Given the description of an element on the screen output the (x, y) to click on. 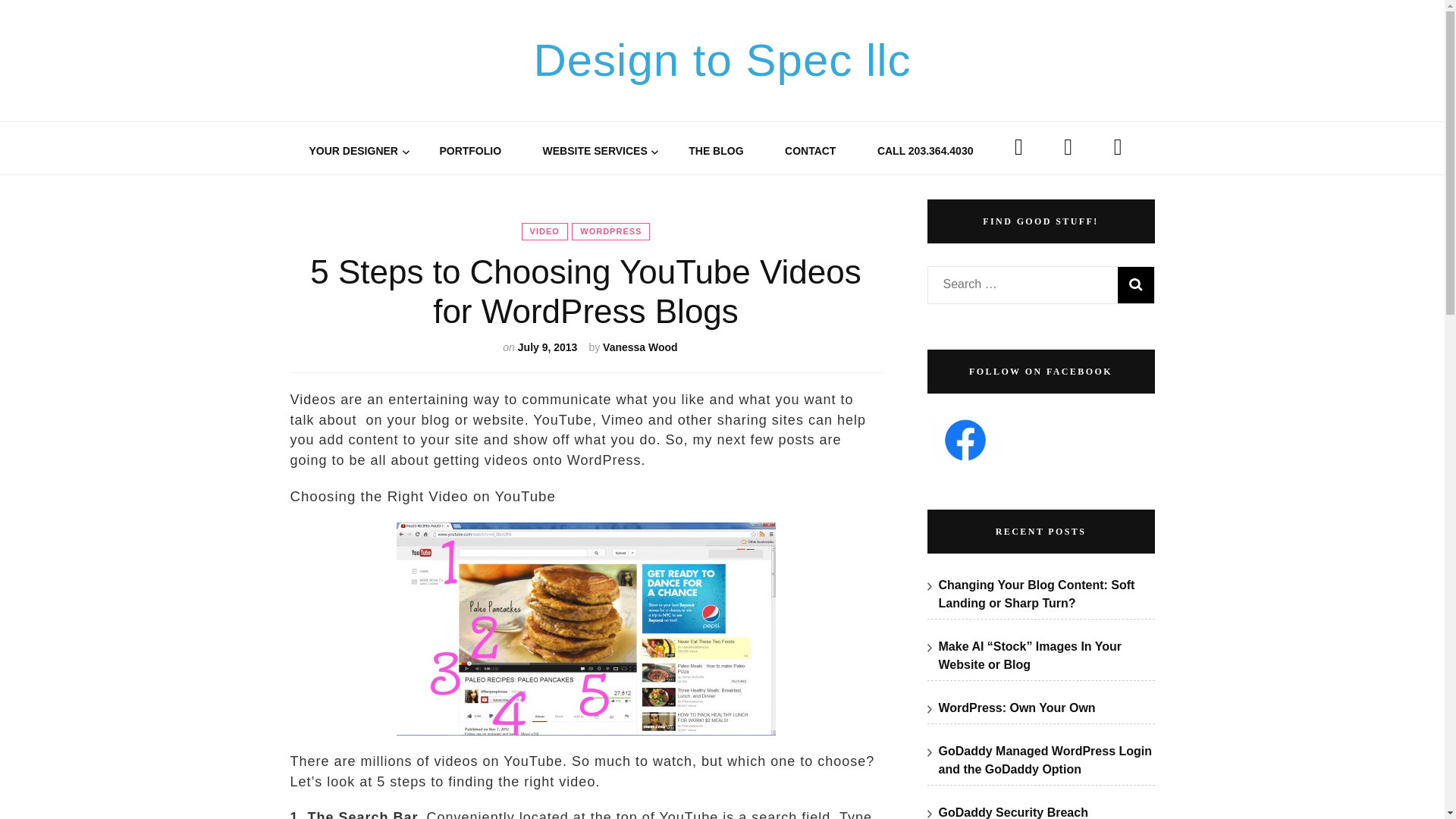
THE BLOG (715, 150)
CALL 203.364.4030 (925, 150)
PORTFOLIO (469, 150)
Search (1136, 284)
WORDPRESS (610, 231)
Design to Spec Post on Facebook (964, 440)
CONTACT (809, 150)
Design to Spec llc (721, 60)
WEBSITE SERVICES (595, 150)
Vanessa Wood (640, 346)
